Given the description of an element on the screen output the (x, y) to click on. 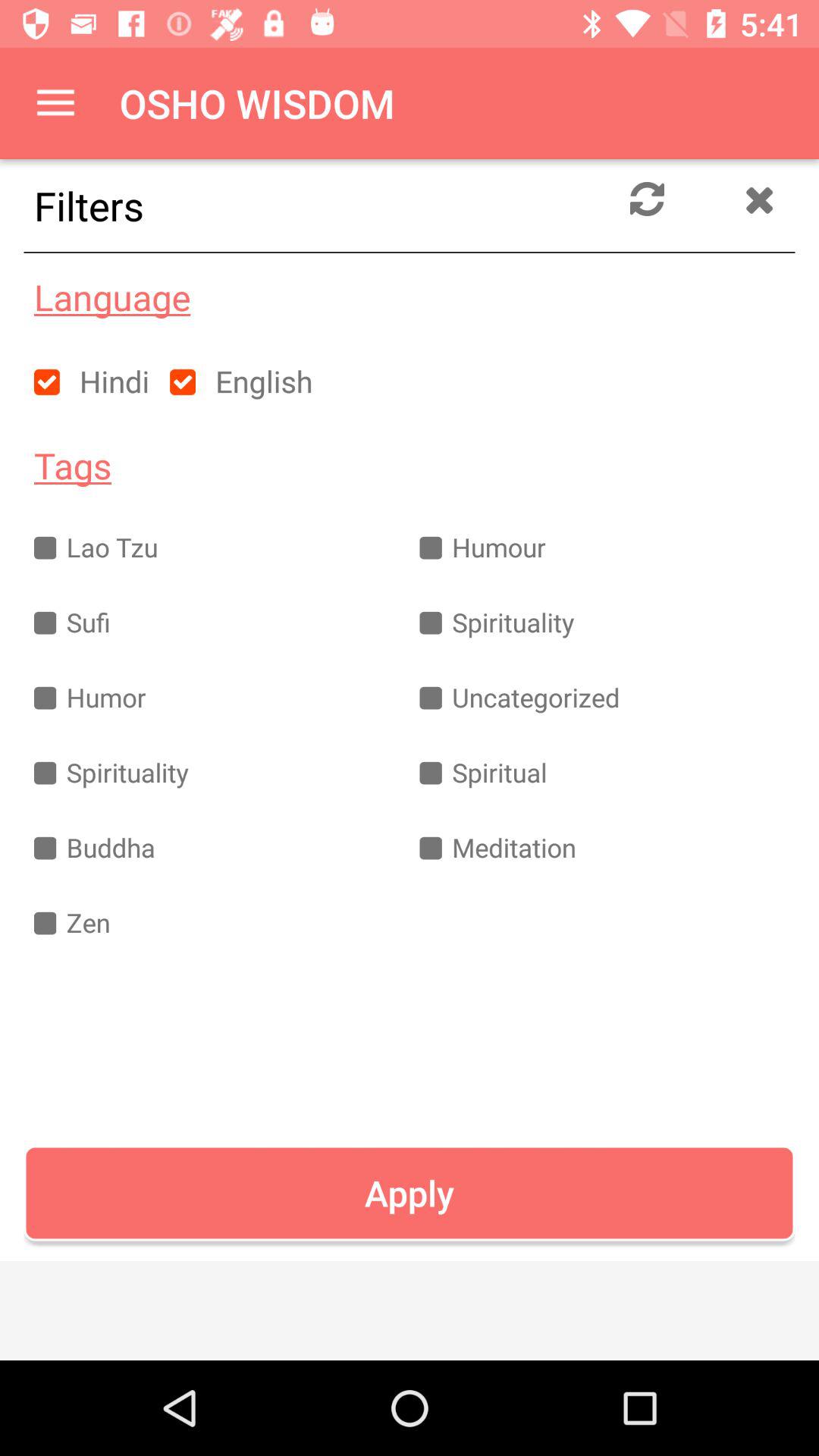
choose the item next to the osho wisdom (55, 103)
